Given the description of an element on the screen output the (x, y) to click on. 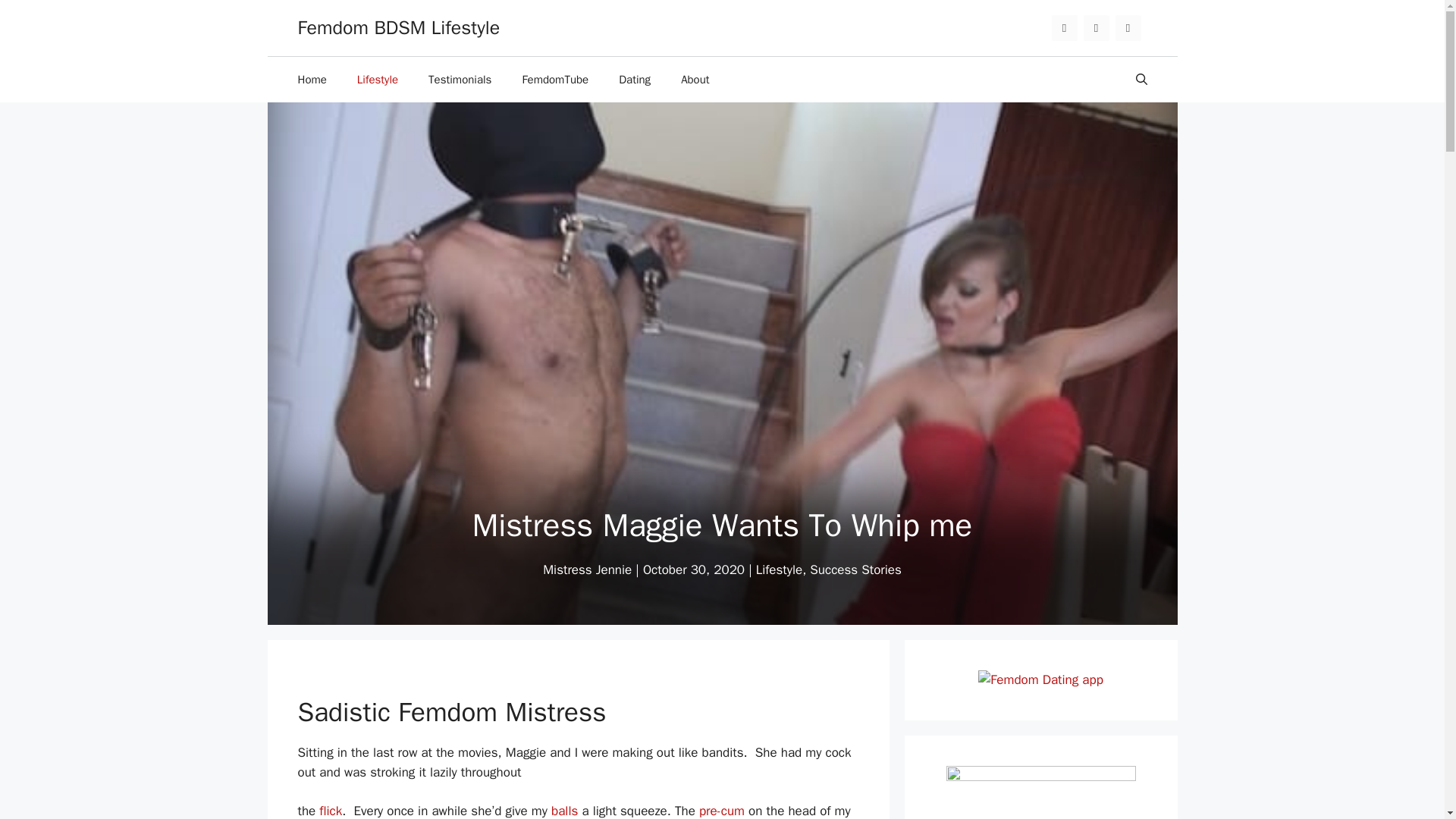
About Femdom (694, 79)
Mistress Jennie (587, 569)
Femdom Blog (311, 79)
Snapchat (1127, 27)
Twitter (1064, 27)
View all posts by Mistress Jennie (587, 569)
About (694, 79)
Dating (634, 79)
Femdom Lifestyle (377, 79)
pre-cum (721, 811)
Femdom BDSM Lifestyle (398, 27)
Testimonials (459, 79)
balls (564, 811)
Lifestyle (778, 569)
FemdomTube (555, 79)
